Given the description of an element on the screen output the (x, y) to click on. 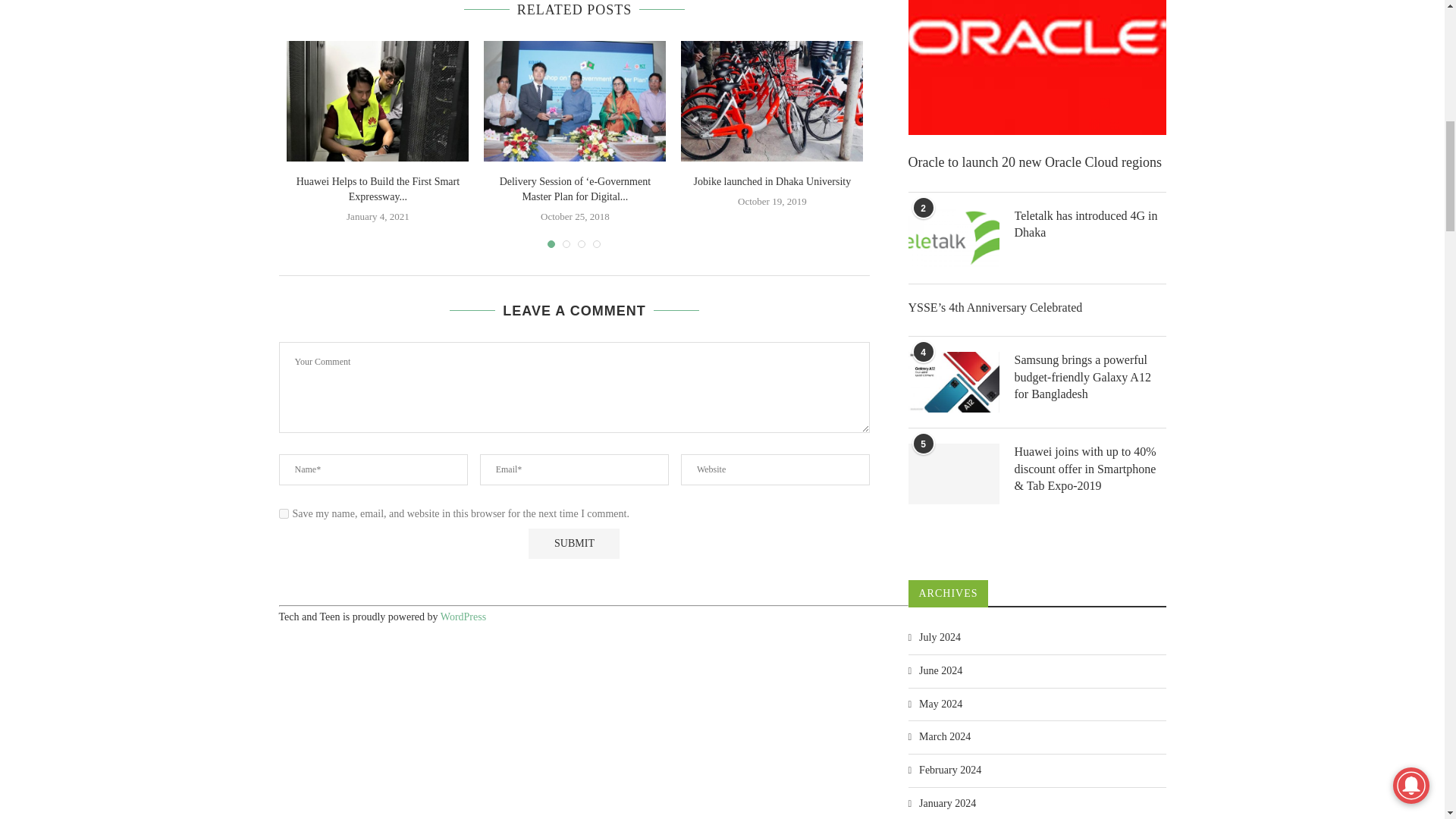
Submit (574, 543)
yes (283, 513)
Huawei Helps to Build the First Smart Expressway in Laos (377, 101)
Jobike launched in Dhaka University (772, 101)
